Given the description of an element on the screen output the (x, y) to click on. 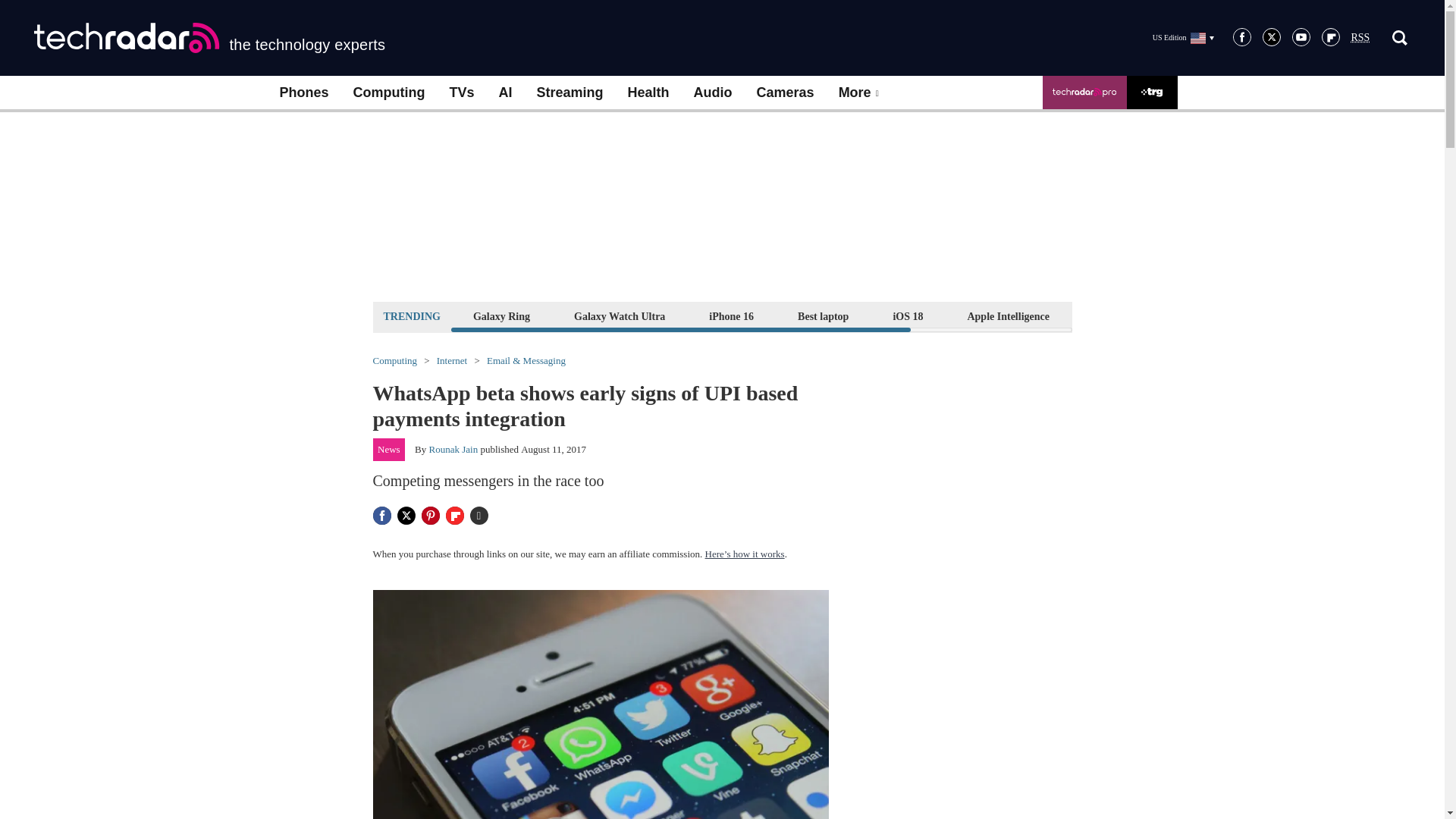
Really Simple Syndication (1360, 37)
Health (648, 92)
TVs (461, 92)
Audio (712, 92)
AI (505, 92)
the technology experts (209, 38)
Cameras (785, 92)
Computing (389, 92)
US Edition (1182, 37)
Phones (303, 92)
Streaming (569, 92)
